Given the description of an element on the screen output the (x, y) to click on. 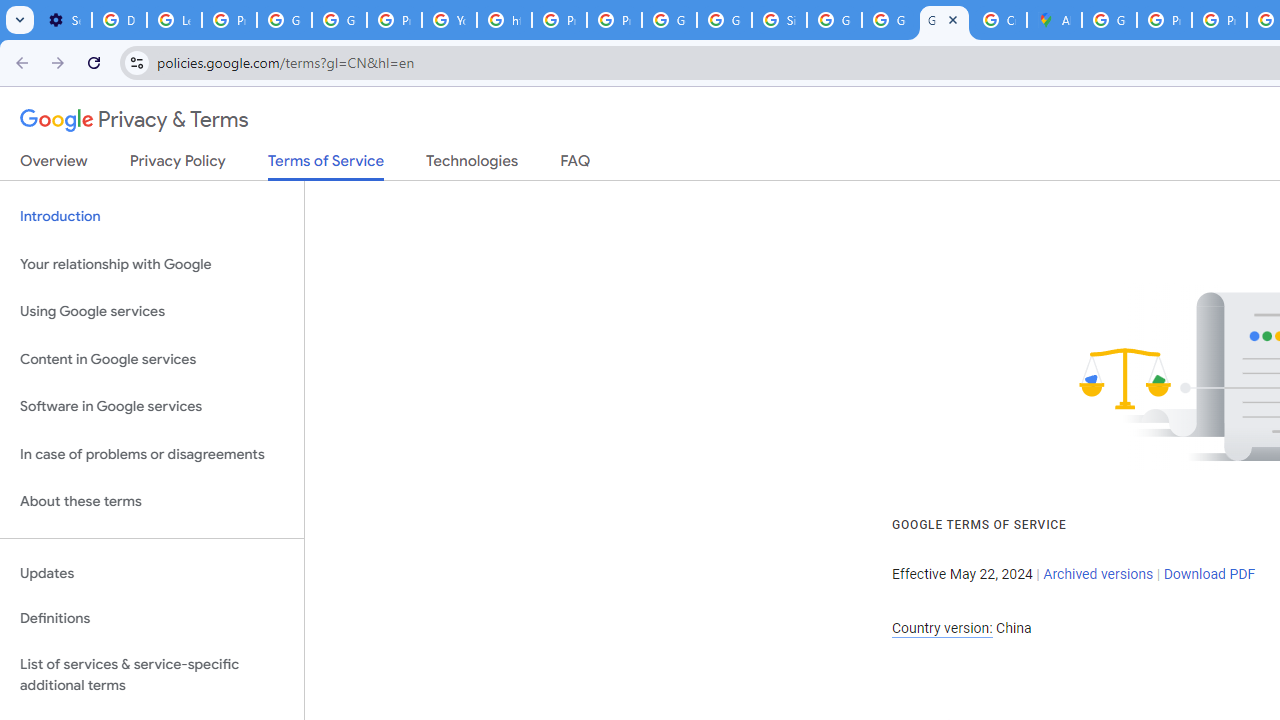
Create your Google Account (998, 20)
Privacy Help Center - Policies Help (1163, 20)
Privacy Help Center - Policies Help (1218, 20)
In case of problems or disagreements (152, 453)
Google Account Help (284, 20)
Sign in - Google Accounts (779, 20)
